Given the description of an element on the screen output the (x, y) to click on. 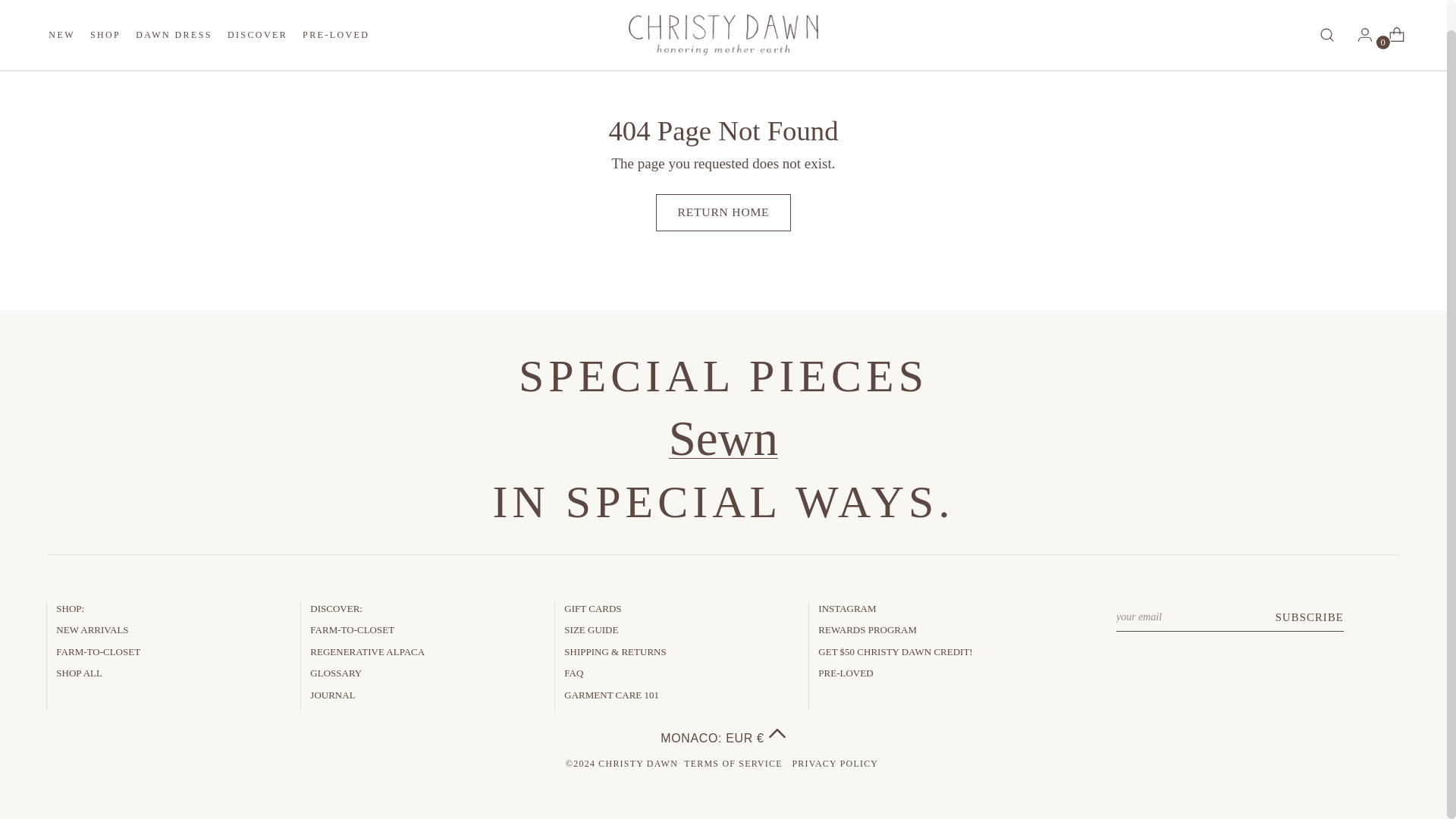
SHOP (208, 32)
DISCOVER (105, 29)
PRE-LOVED (256, 29)
DAWN DRESS (335, 29)
